Given the description of an element on the screen output the (x, y) to click on. 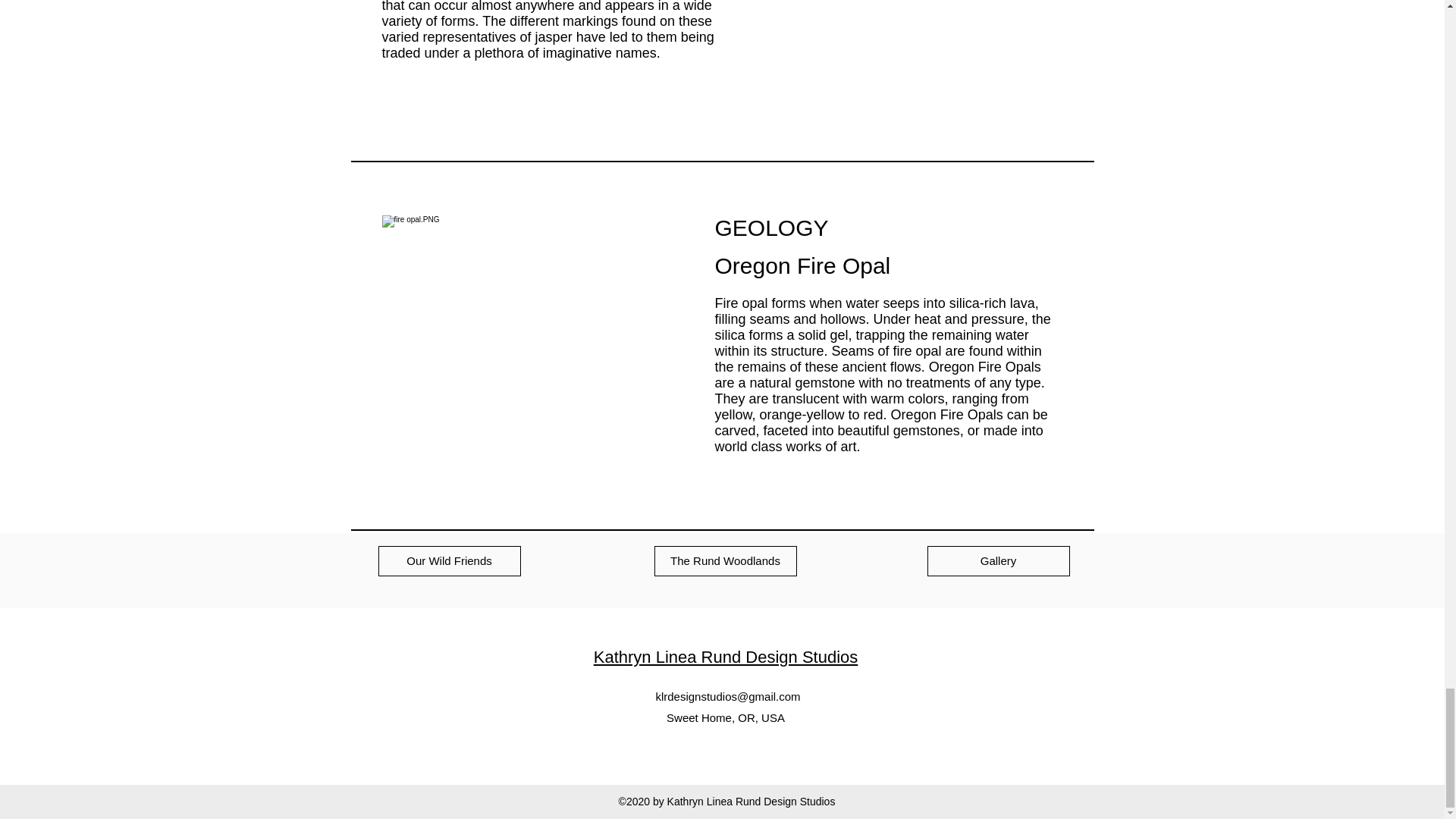
The Rund Woodlands (724, 561)
Gallery (997, 561)
Our Wild Friends (448, 561)
Kathryn Linea Rund Design Studios (726, 656)
